Given the description of an element on the screen output the (x, y) to click on. 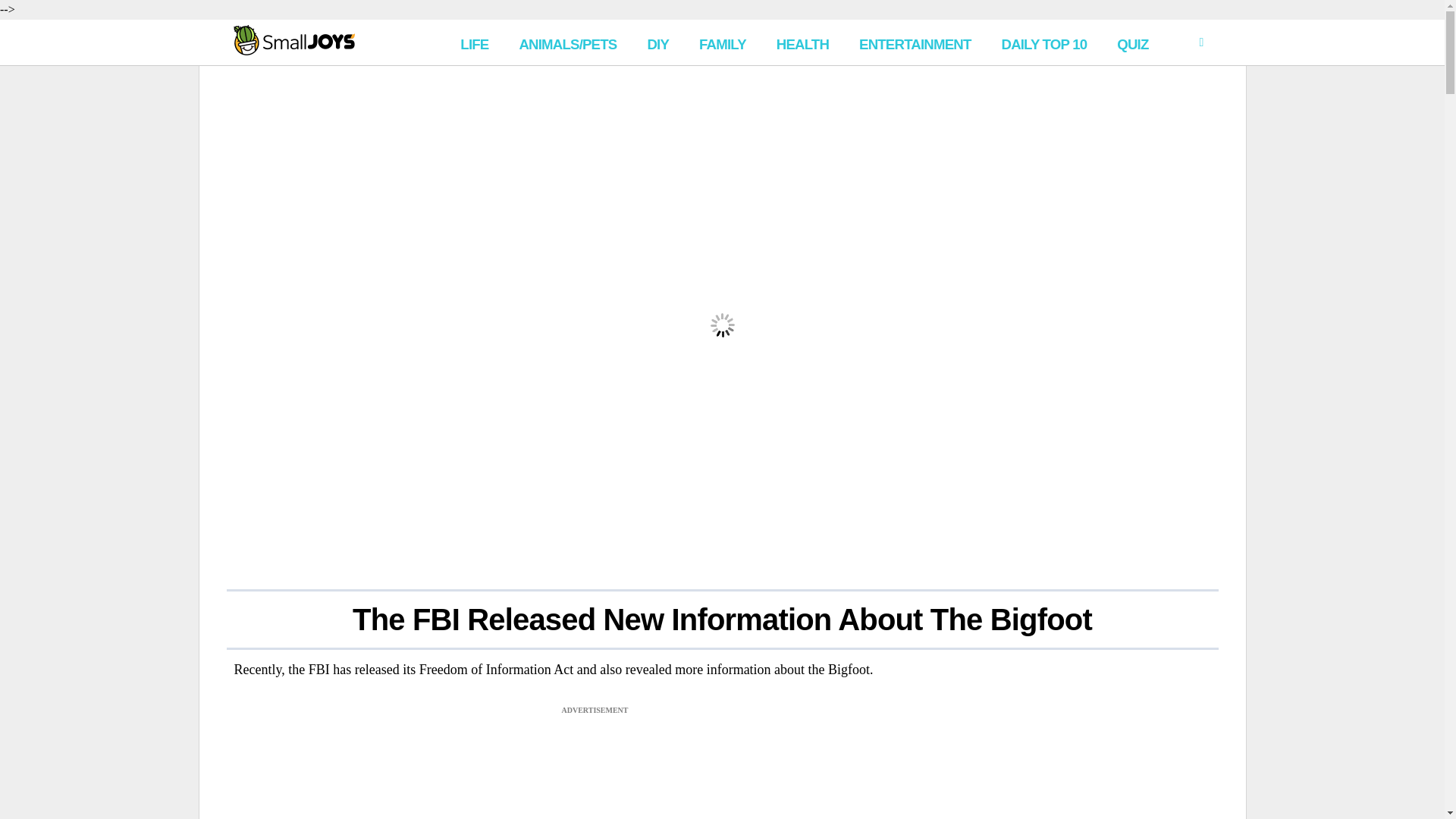
FAMILY (722, 42)
HEALTH (801, 42)
DAILY TOP 10 (1043, 42)
ENTERTAINMENT (914, 42)
LIFE (474, 42)
QUIZ (1132, 42)
